Given the description of an element on the screen output the (x, y) to click on. 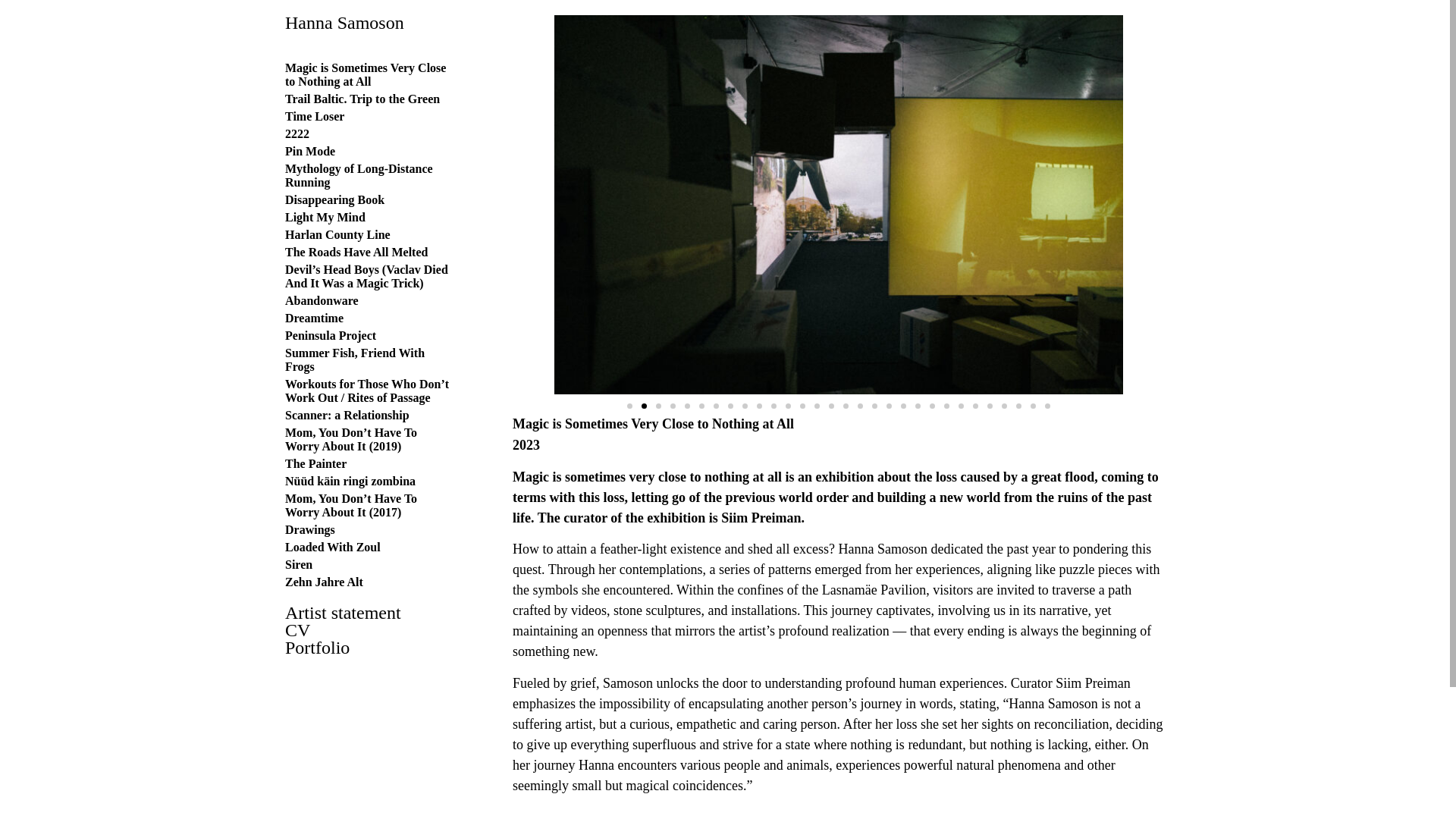
CV (368, 630)
Pin Mode (309, 151)
Artist statement (368, 612)
Scanner: a Relationship (347, 414)
Summer Fish, Friend With Frogs (355, 359)
Magic is Sometimes Very Close to Nothing at All (365, 74)
Dreamtime (314, 318)
Trail Baltic. Trip to the Green (362, 98)
2222 (296, 133)
Time Loser (314, 115)
Disappearing Book (334, 199)
Mythology of Long-Distance Running (358, 175)
Abandonware (321, 300)
The Painter (315, 463)
Loaded With Zoul (332, 546)
